Given the description of an element on the screen output the (x, y) to click on. 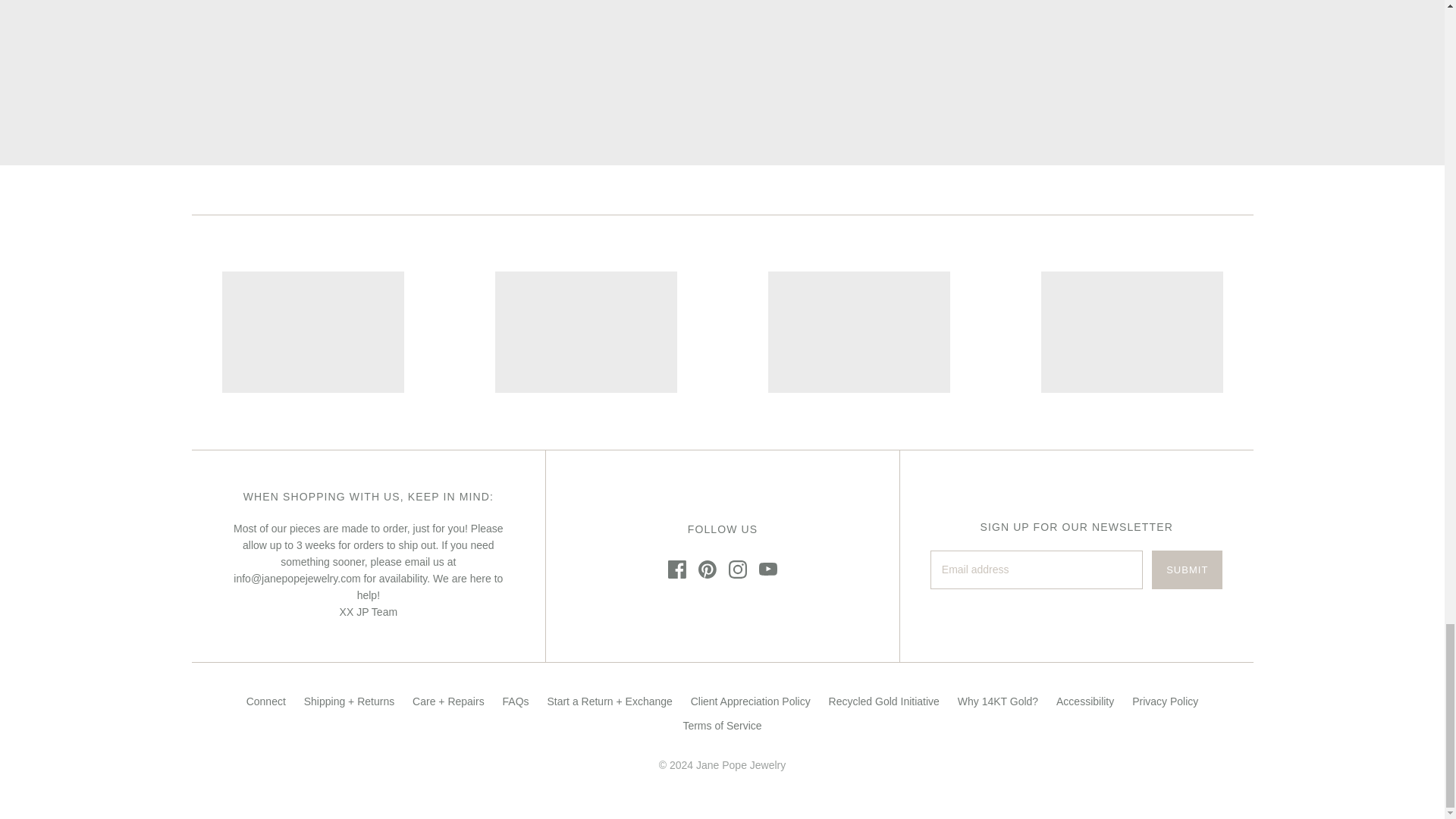
Youtube Icon (767, 569)
Submit (1187, 569)
Pinterest Icon (707, 569)
Instagram Icon (737, 569)
Facebook Icon (676, 569)
